Given the description of an element on the screen output the (x, y) to click on. 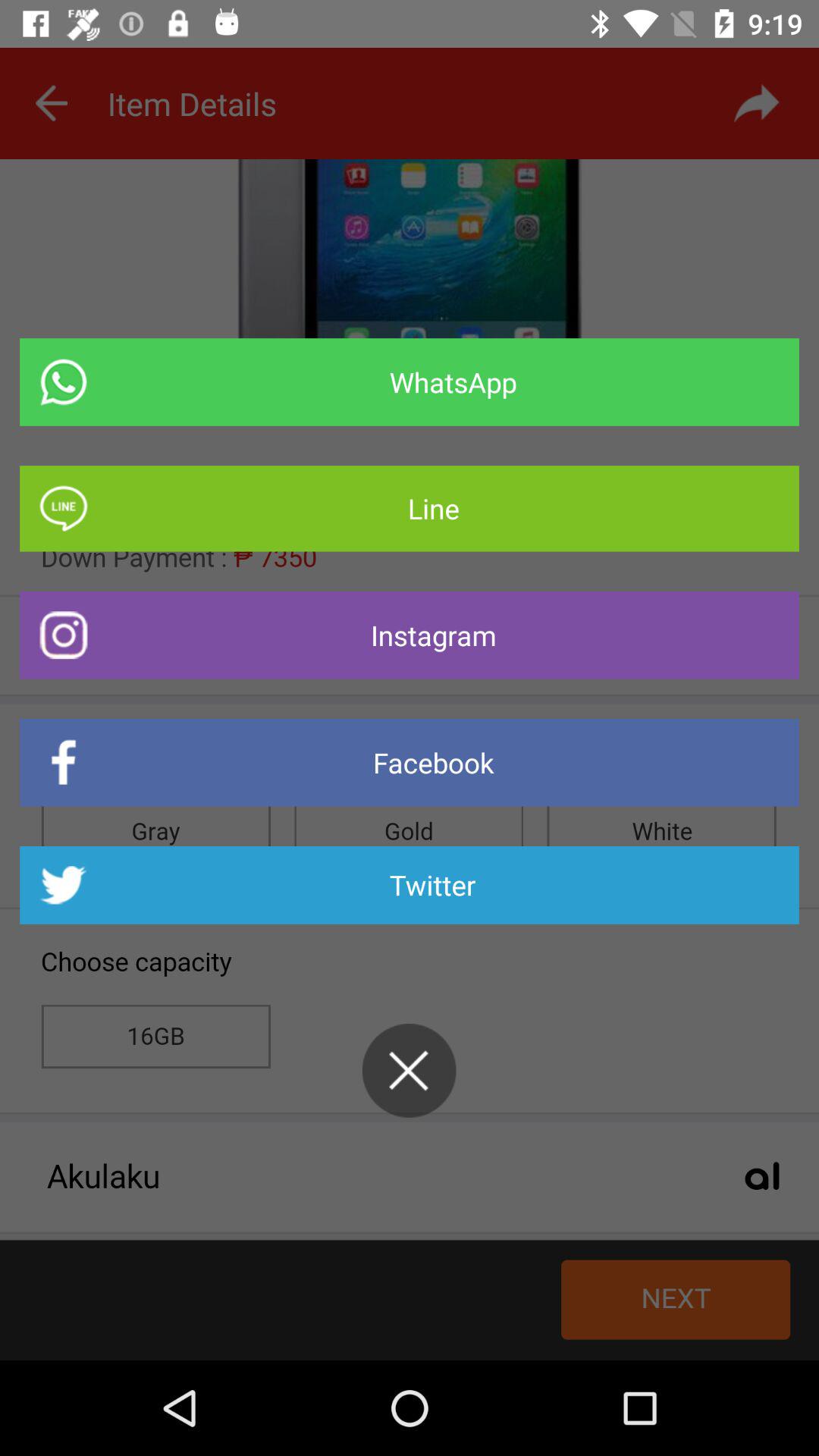
jump until the whatsapp icon (409, 381)
